Given the description of an element on the screen output the (x, y) to click on. 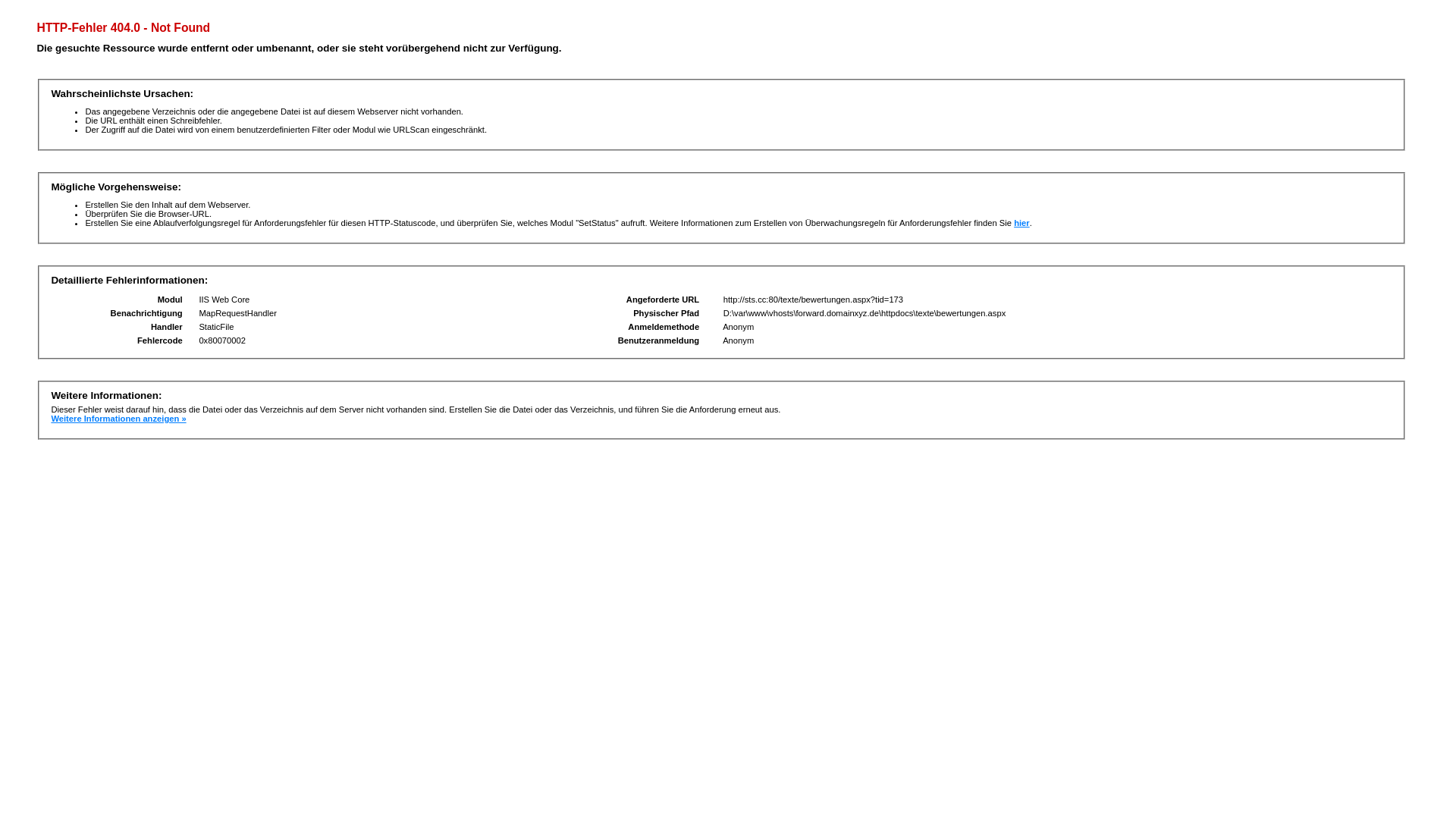
hier Element type: text (1021, 222)
